Given the description of an element on the screen output the (x, y) to click on. 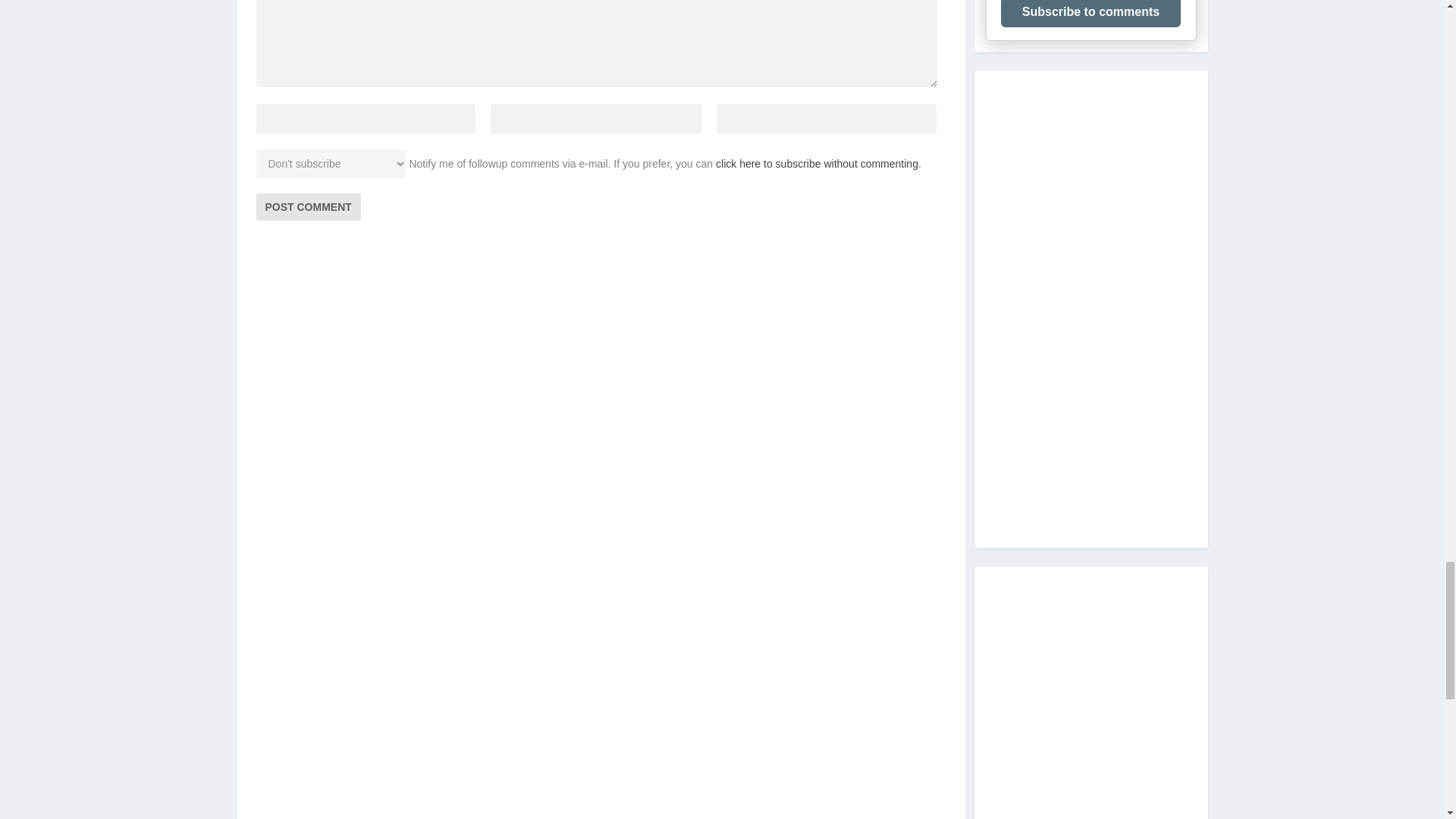
Post Comment (308, 206)
